Given the description of an element on the screen output the (x, y) to click on. 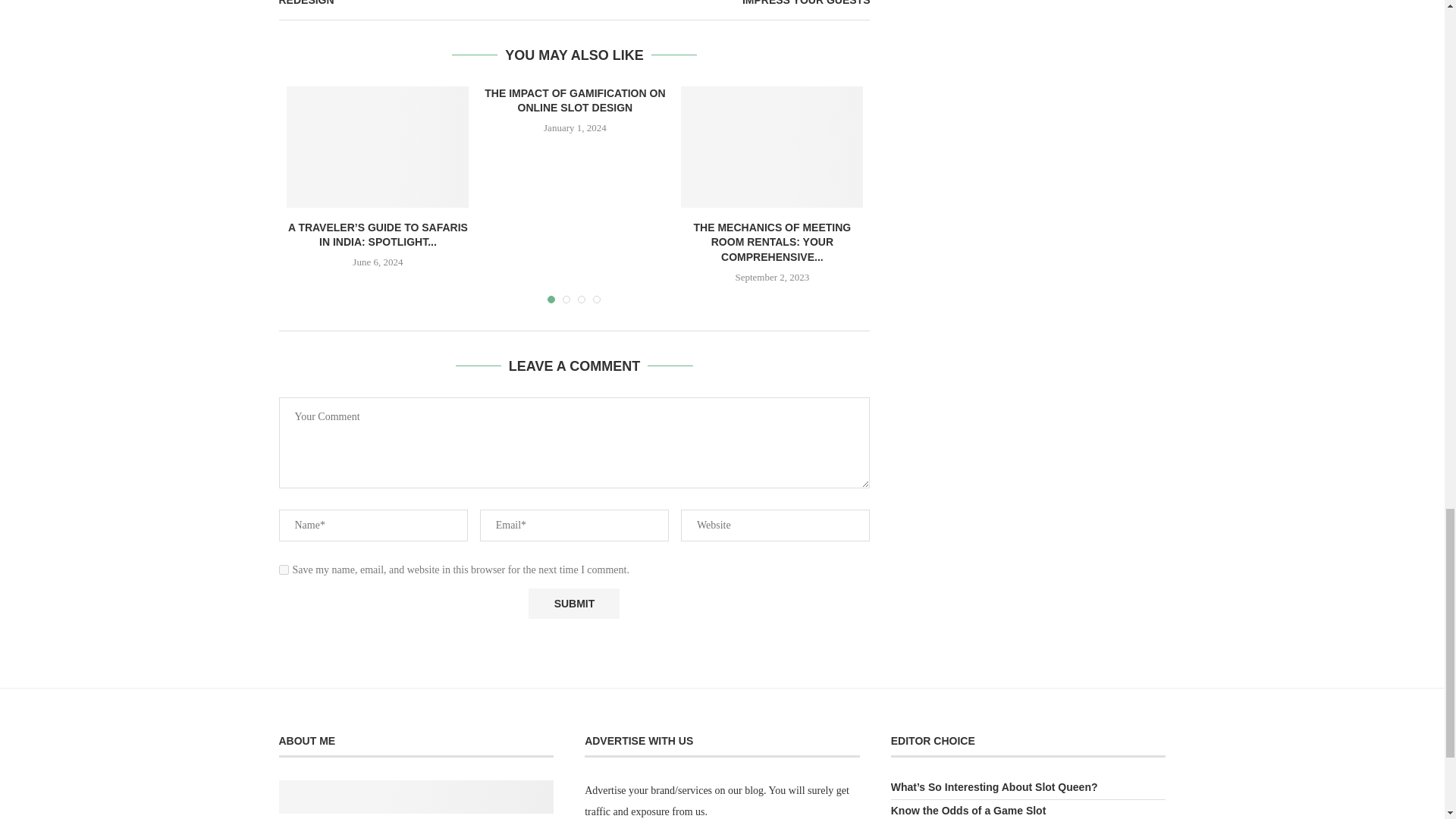
yes (283, 569)
TIPS FOR BACKYARD BARBECUE PARTY TO IMPRESS YOUR GUESTS (722, 4)
Submit (574, 603)
